Given the description of an element on the screen output the (x, y) to click on. 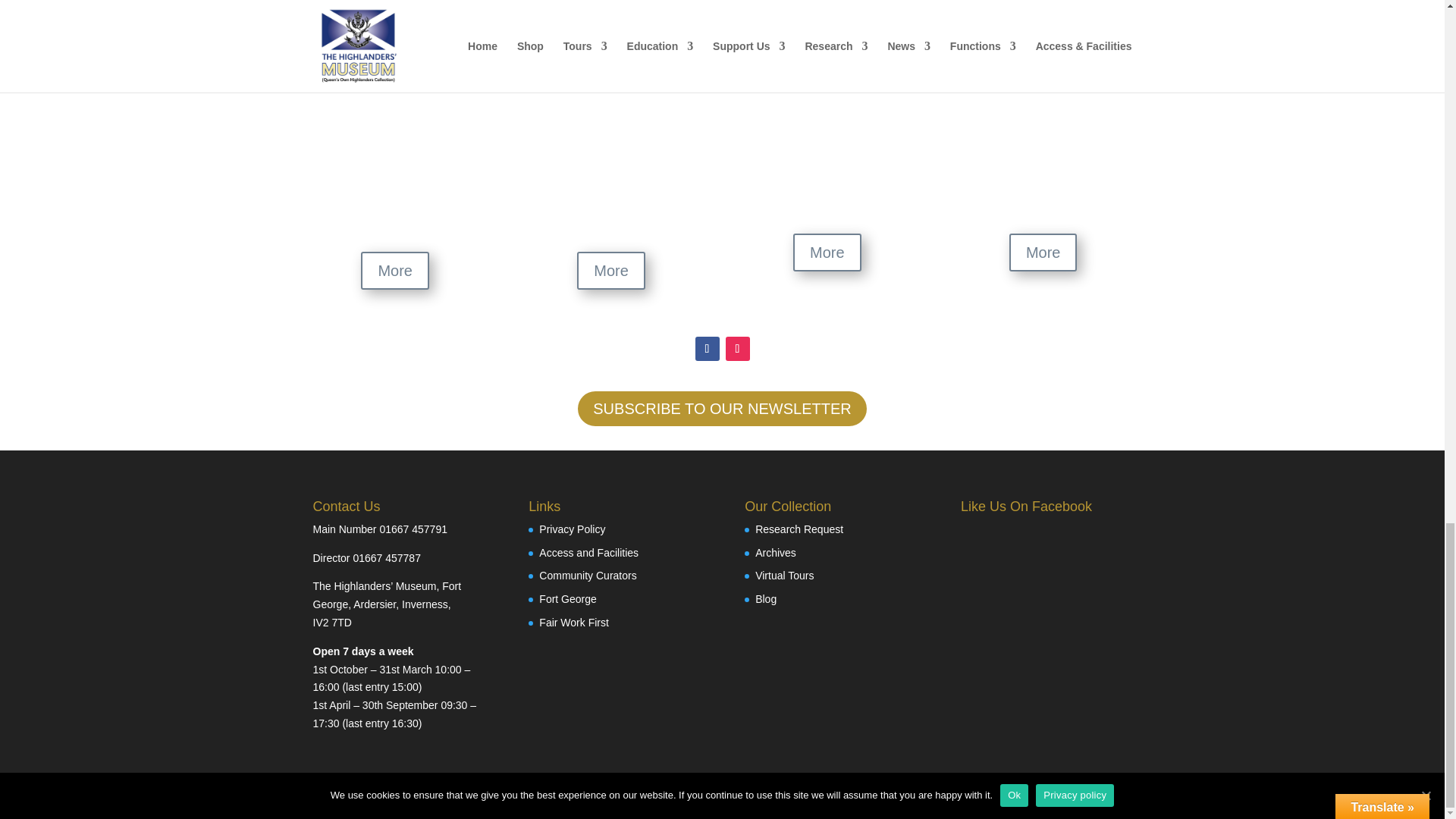
Follow on Facebook (706, 348)
Follow on Instagram (737, 348)
